Given the description of an element on the screen output the (x, y) to click on. 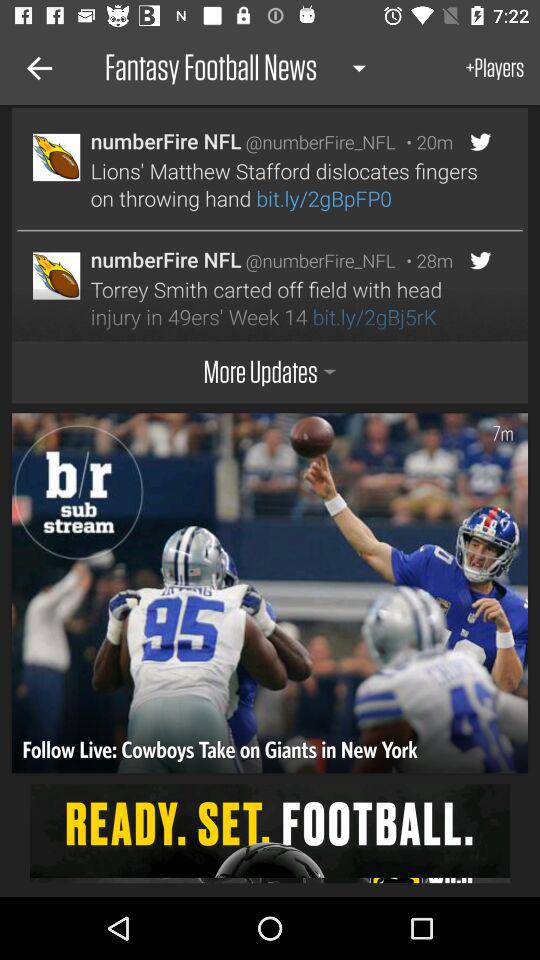
turn off the item above the torrey smith carted item (423, 260)
